Given the description of an element on the screen output the (x, y) to click on. 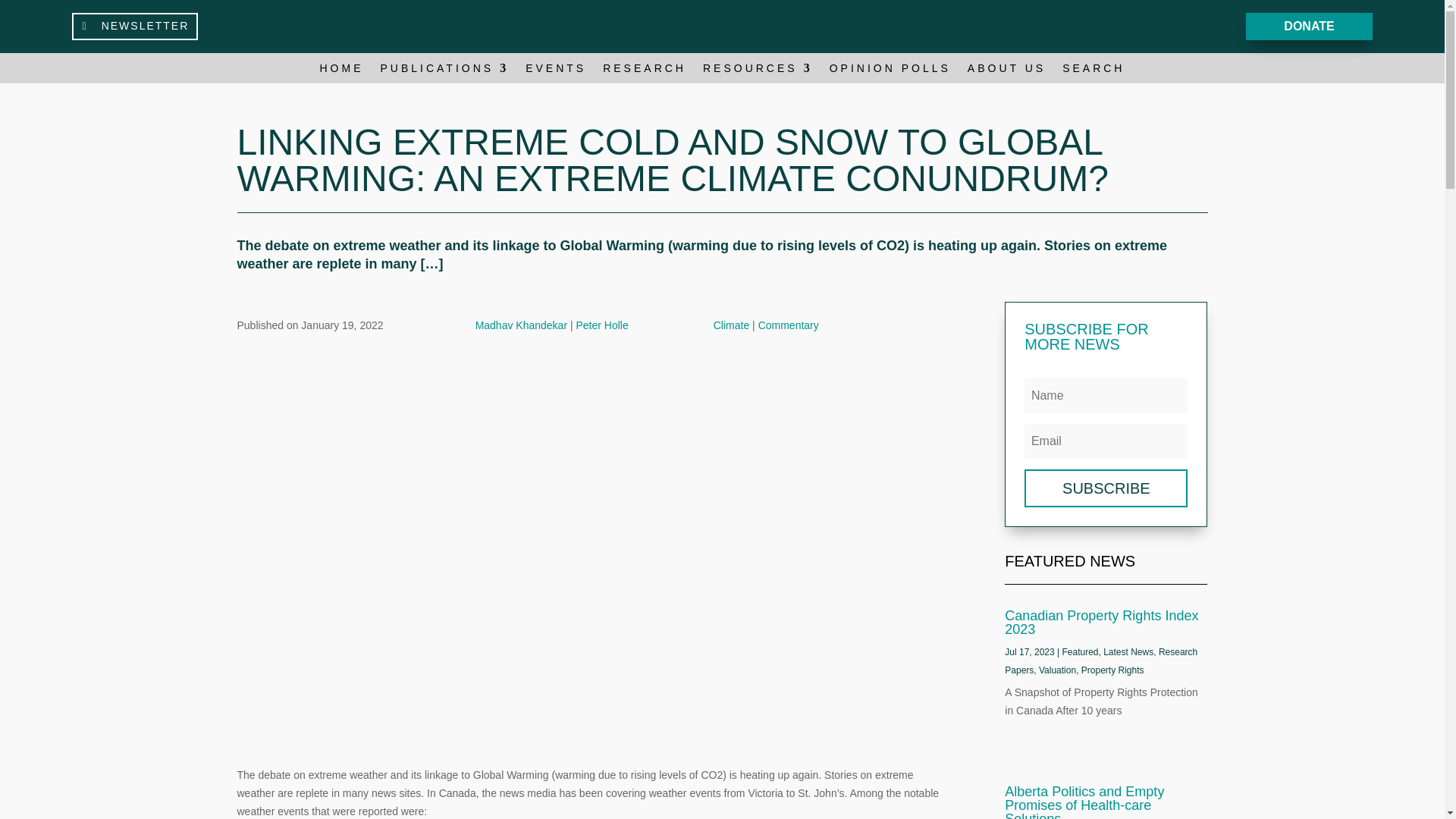
NEWSLETTER (134, 26)
RESOURCES (757, 71)
ABOUT US (1006, 71)
SEARCH (1093, 71)
HOME (342, 71)
DONATE (1308, 26)
PUBLICATIONS (444, 71)
EVENTS (555, 71)
OPINION POLLS (889, 71)
RESEARCH (643, 71)
